Given the description of an element on the screen output the (x, y) to click on. 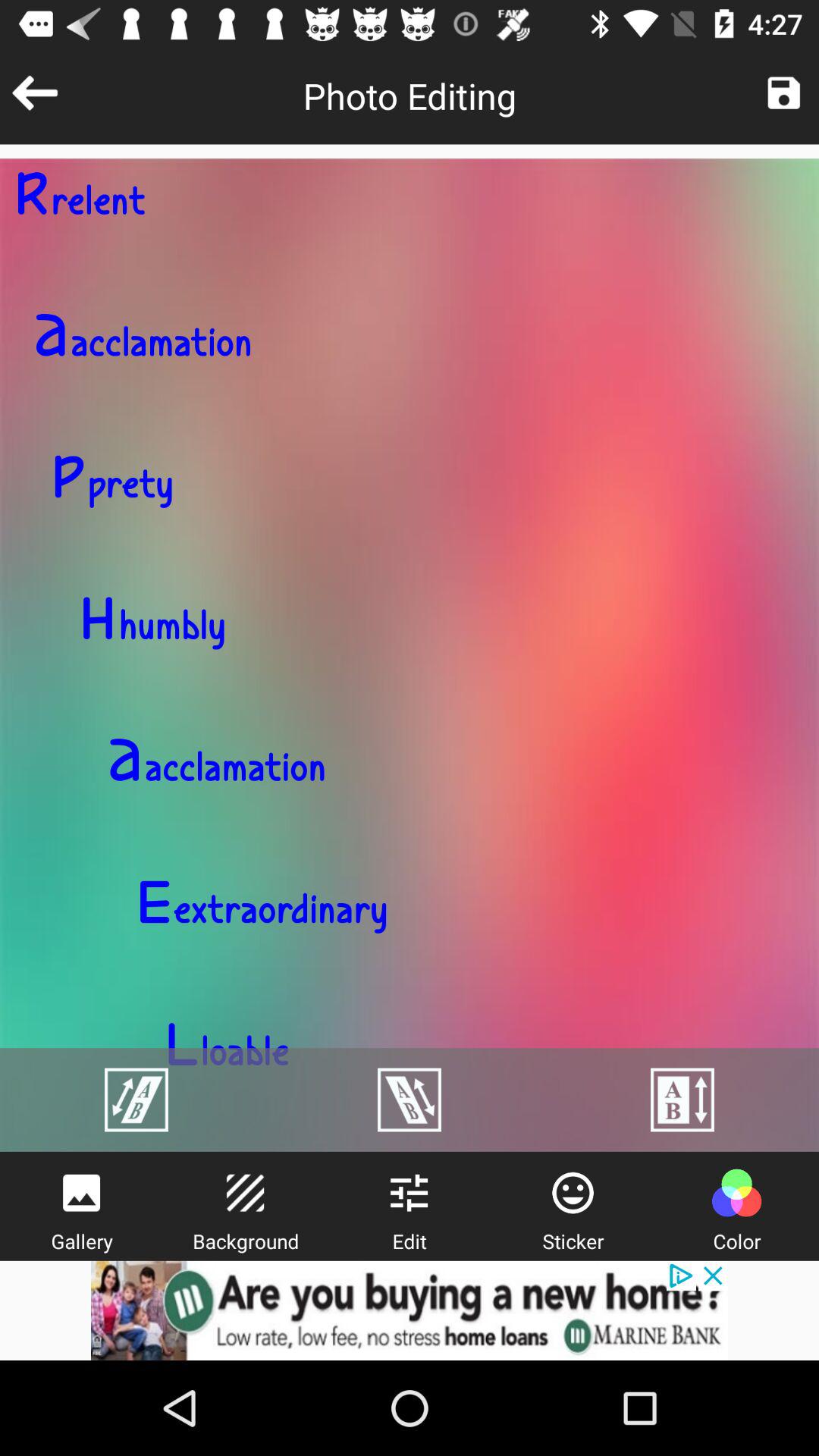
go to image botten (784, 92)
